Given the description of an element on the screen output the (x, y) to click on. 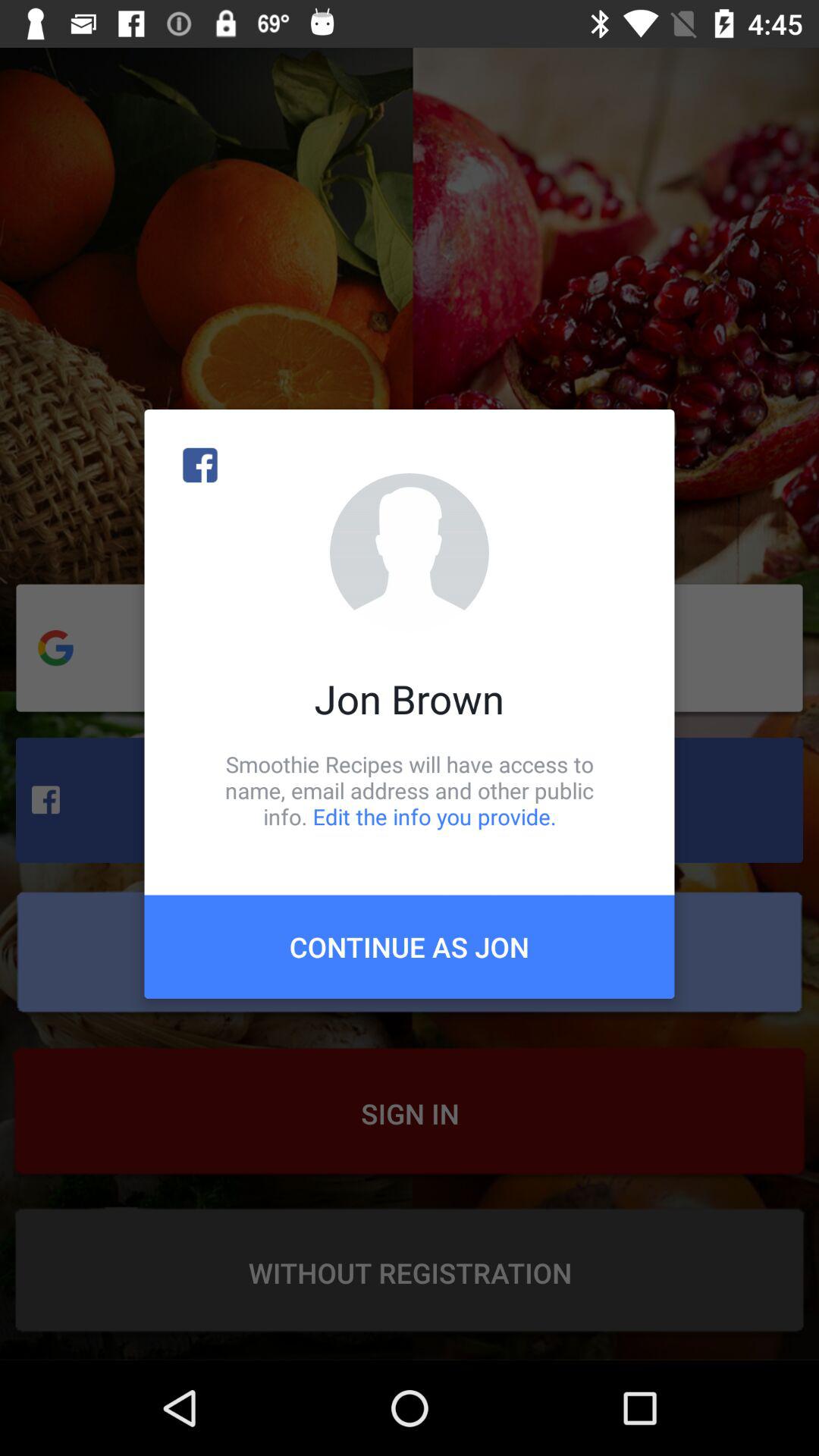
launch item below the jon brown item (409, 790)
